Given the description of an element on the screen output the (x, y) to click on. 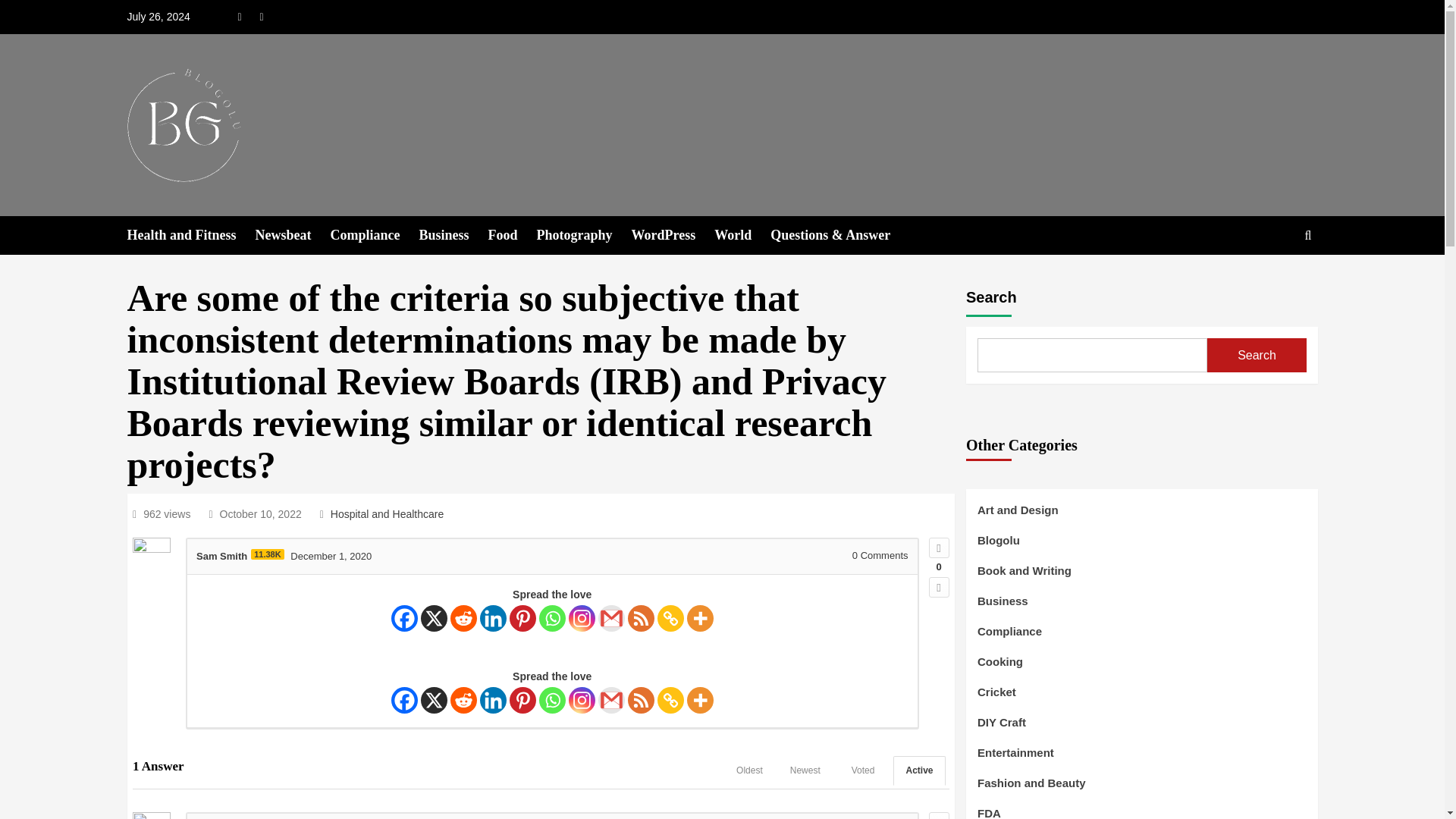
World (742, 235)
Compliance (374, 235)
WordPress (672, 235)
Food (512, 235)
Photography (584, 235)
Reddit (463, 618)
X (433, 618)
Health and Fitness (192, 235)
RSS Feed (640, 618)
Whatsapp (552, 618)
Newsbeat (293, 235)
Search (1272, 282)
Hospital and Healthcare (387, 513)
Instagram (582, 618)
Google Gmail (611, 618)
